Given the description of an element on the screen output the (x, y) to click on. 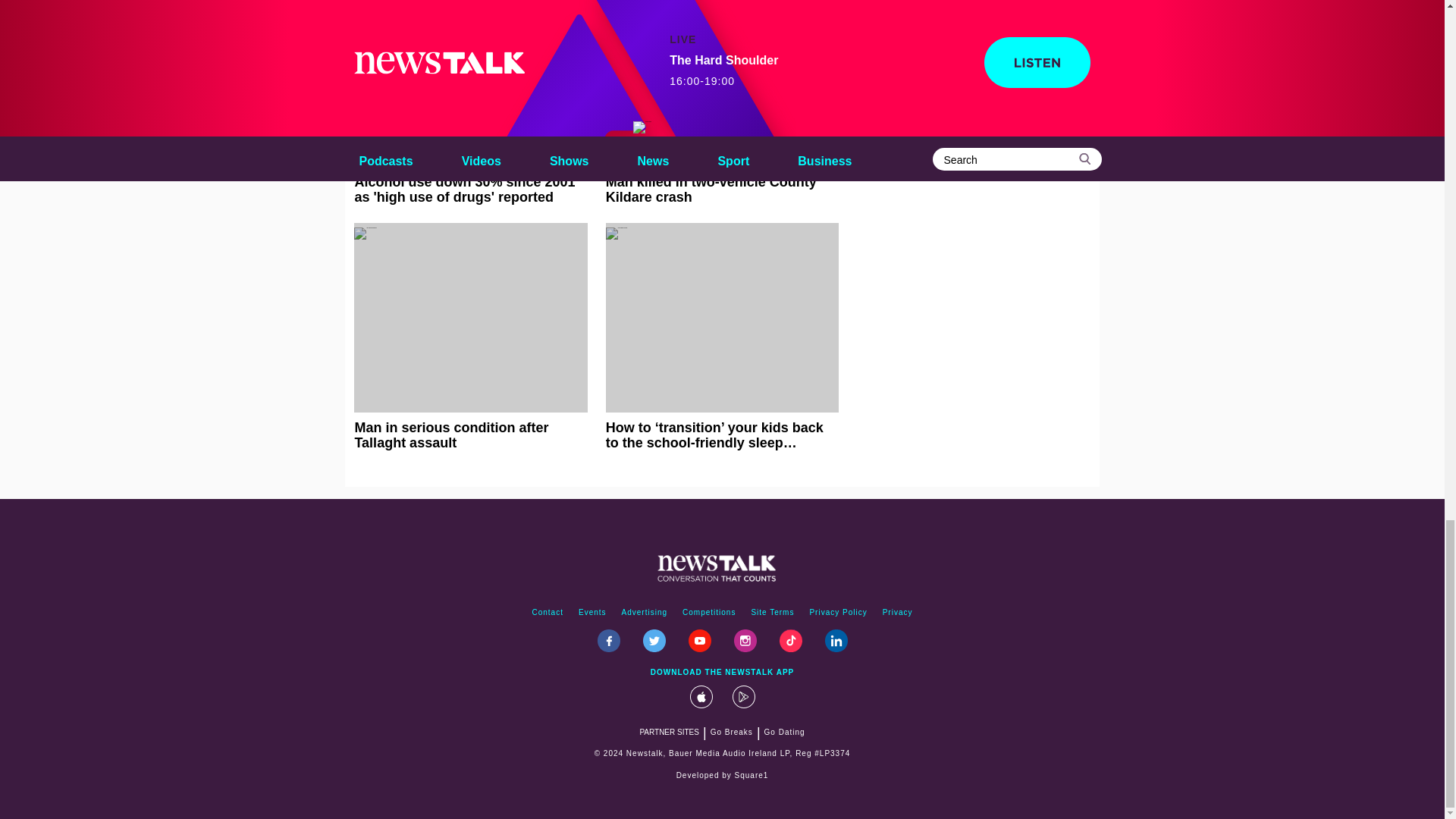
Man in serious condition after Tallaght assault (469, 336)
events (592, 612)
advertising (644, 612)
Privacy (897, 612)
competitions (708, 612)
Privacy Policy (838, 612)
site terms (772, 612)
contact (547, 612)
Man killed in two-vehicle County Kildare crash (721, 102)
